Given the description of an element on the screen output the (x, y) to click on. 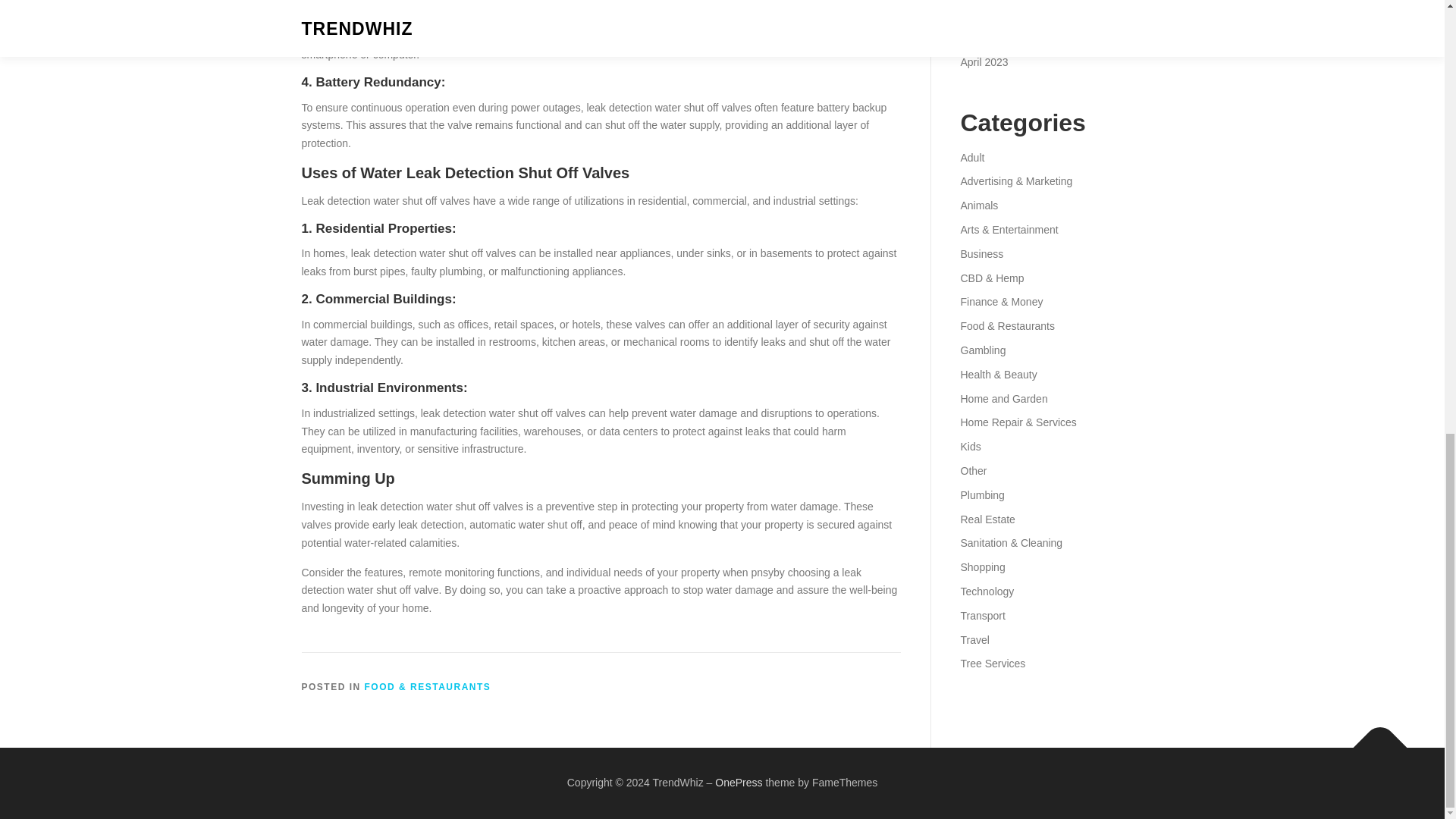
June 2023 (984, 14)
Gambling (982, 349)
Back To Top (1372, 740)
Adult (971, 157)
Business (981, 254)
Animals (978, 205)
May 2023 (982, 38)
April 2023 (983, 61)
